Given the description of an element on the screen output the (x, y) to click on. 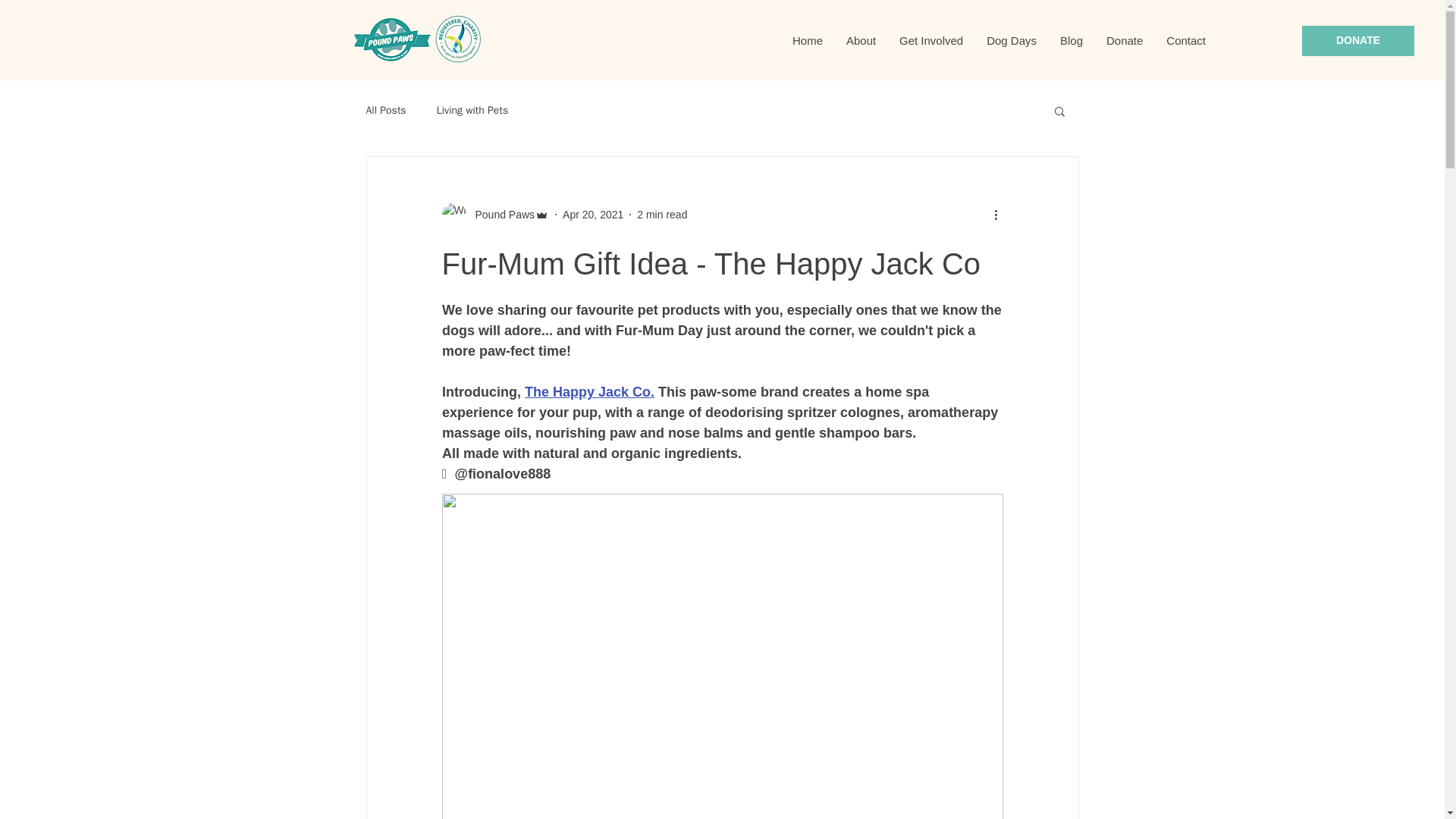
Blog (1071, 40)
Get Involved (930, 40)
Contact (1185, 40)
The Happy Jack Co. (588, 391)
About (860, 40)
DONATE (1357, 40)
Pound Paws (499, 213)
Home (807, 40)
Donate (1124, 40)
Dog Days (1011, 40)
Apr 20, 2021 (592, 214)
All Posts (385, 110)
2 min read (662, 214)
Pound Paws (494, 214)
Living with Pets (472, 110)
